Given the description of an element on the screen output the (x, y) to click on. 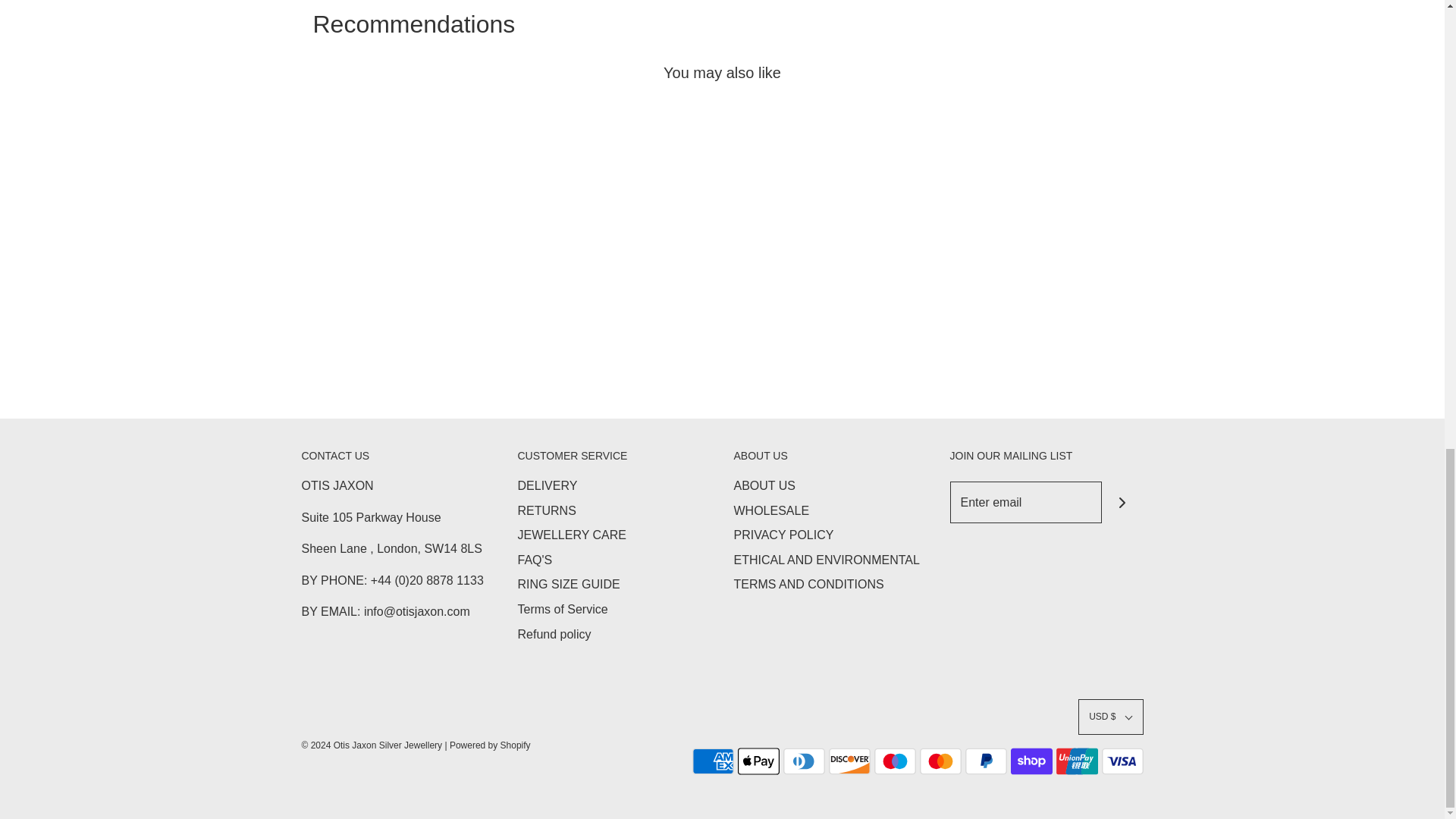
American Express (712, 761)
Diners Club (803, 761)
Apple Pay (757, 761)
